Given the description of an element on the screen output the (x, y) to click on. 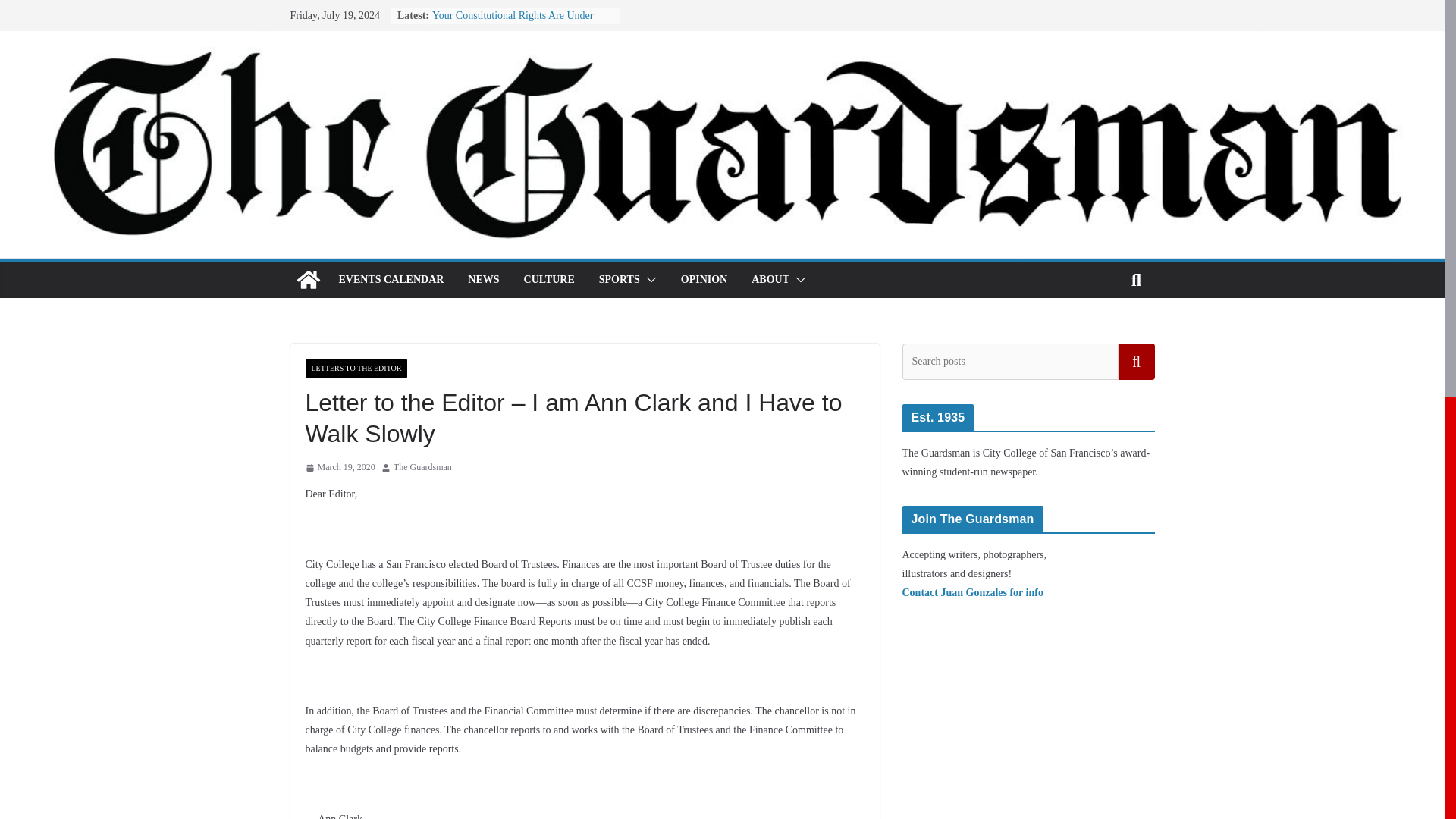
EVENTS CALENDAR (390, 279)
LETTERS TO THE EDITOR (355, 368)
March 19, 2020 (339, 467)
SPORTS (619, 279)
NEWS (483, 279)
8:51 pm (339, 467)
Your Constitutional Rights Are Under Attack (512, 22)
ABOUT (770, 279)
The Guardsman (422, 467)
Contact Juan Gonzales for info (972, 592)
The Guardsman (307, 279)
Your Constitutional Rights Are Under Attack (512, 22)
CULTURE (549, 279)
The Guardsman (422, 467)
Search (1136, 361)
